Given the description of an element on the screen output the (x, y) to click on. 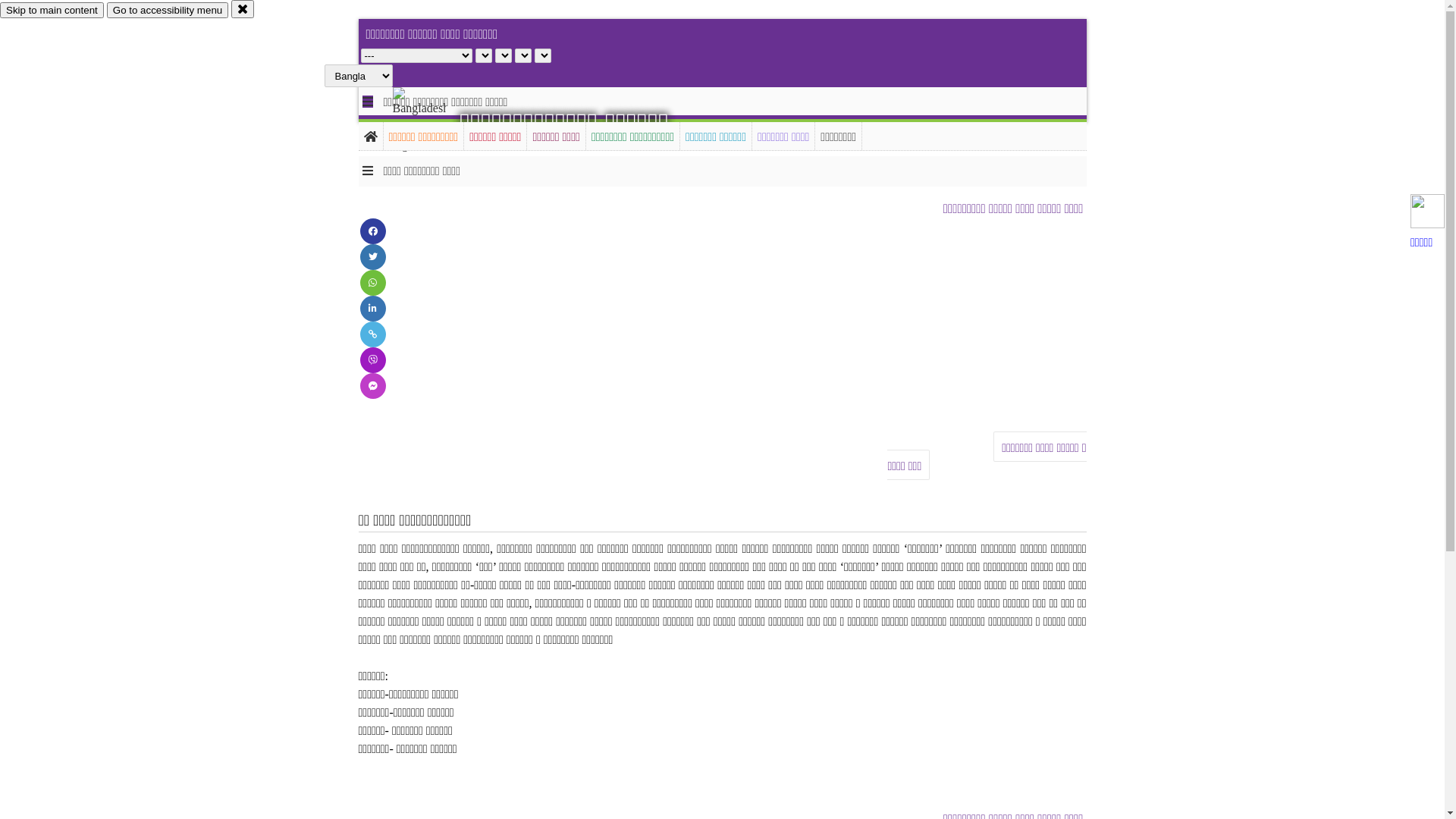
Skip to main content Element type: text (51, 10)
Go to accessibility menu Element type: text (167, 10)

                
             Element type: hover (431, 120)
close Element type: hover (242, 9)
